Given the description of an element on the screen output the (x, y) to click on. 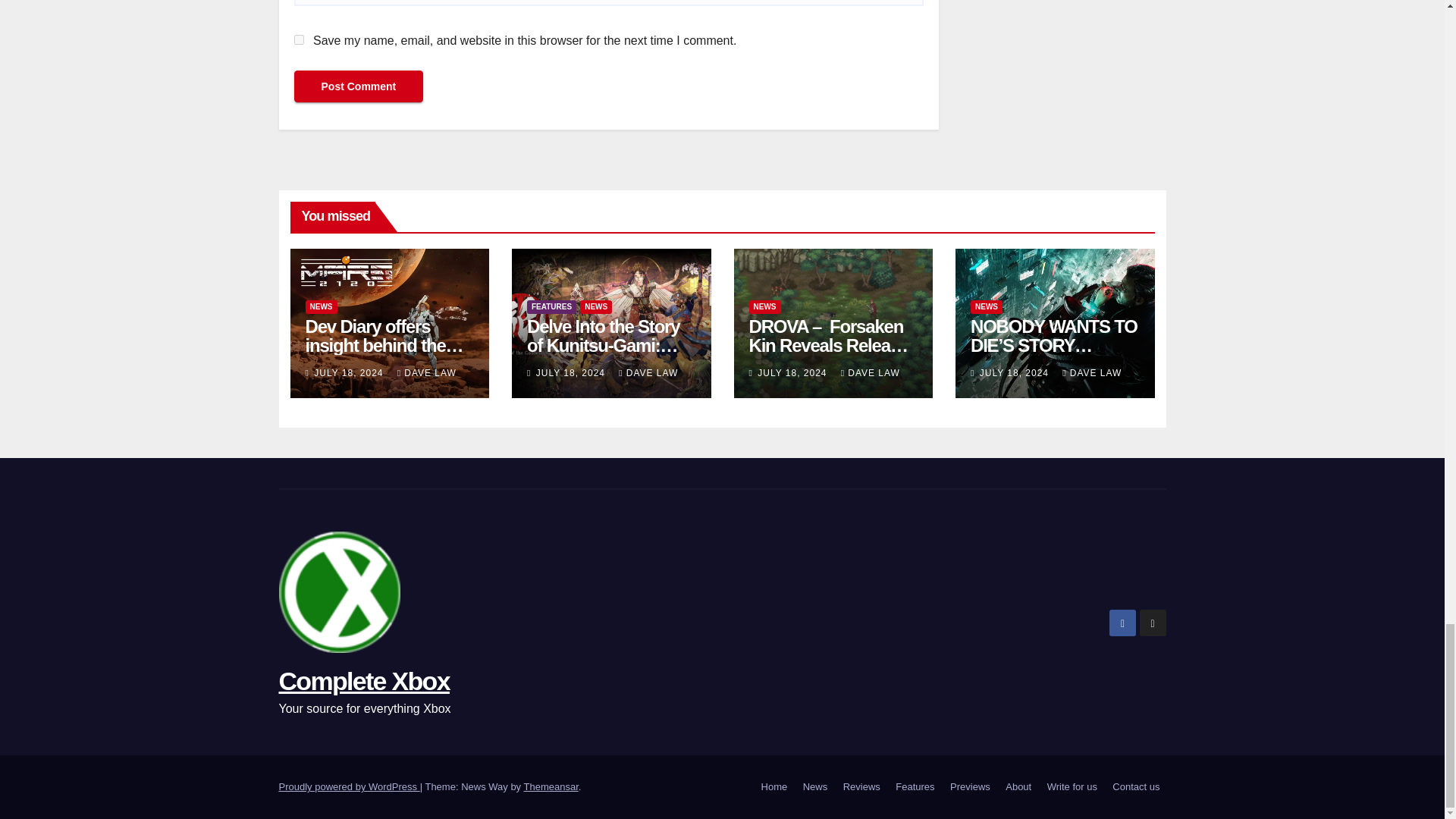
Post Comment (358, 86)
yes (299, 40)
